Given the description of an element on the screen output the (x, y) to click on. 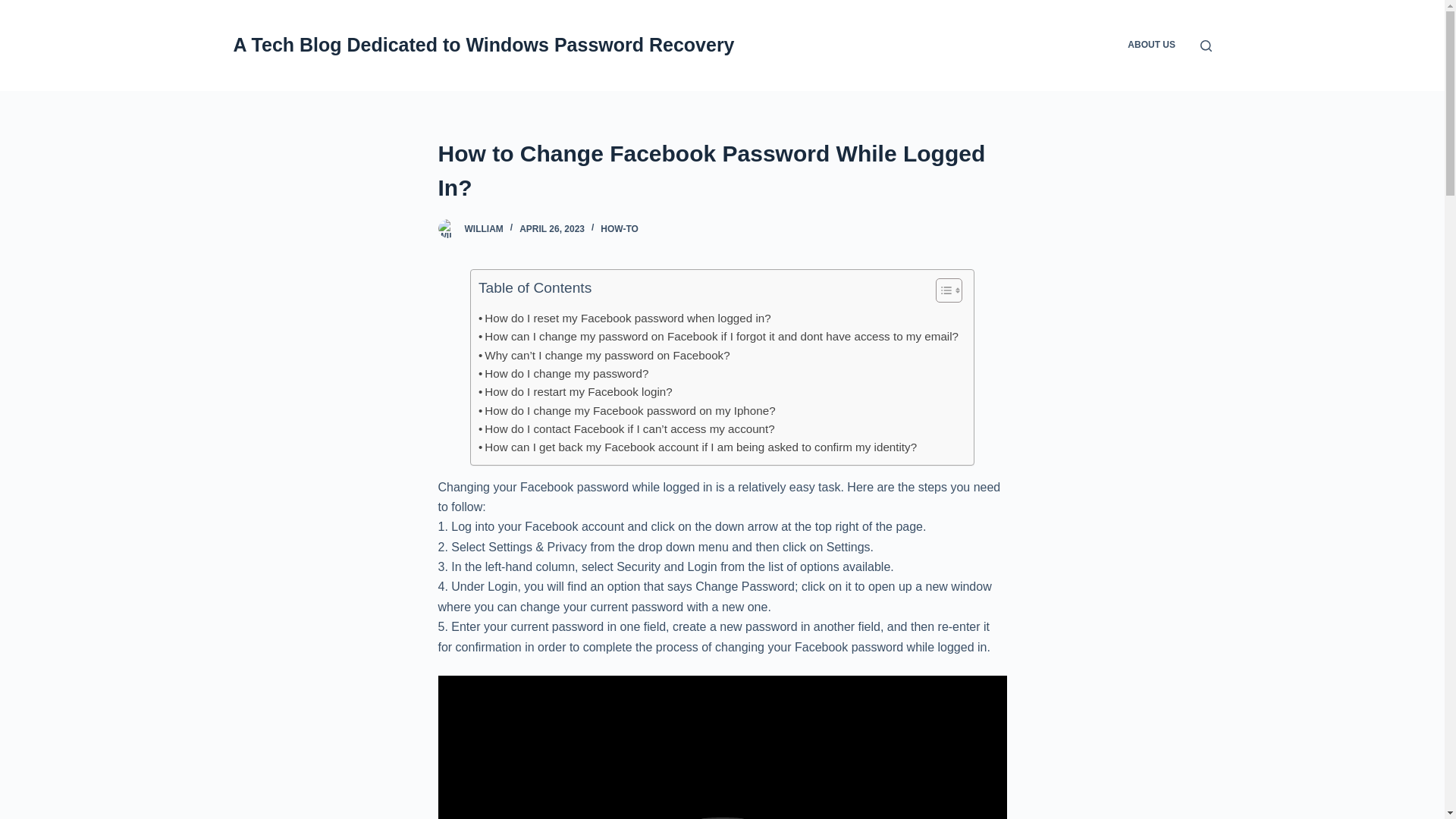
How do I change my password? (563, 373)
How do I restart my Facebook login? (575, 392)
HOW-TO (619, 228)
How to Change Facebook Password While Logged In? (722, 170)
How do I change my Facebook password on my Iphone? (627, 411)
How do I reset my Facebook password when logged in? (625, 318)
A Tech Blog Dedicated to Windows Password Recovery (483, 44)
How do I restart my Facebook login? (575, 392)
